Given the description of an element on the screen output the (x, y) to click on. 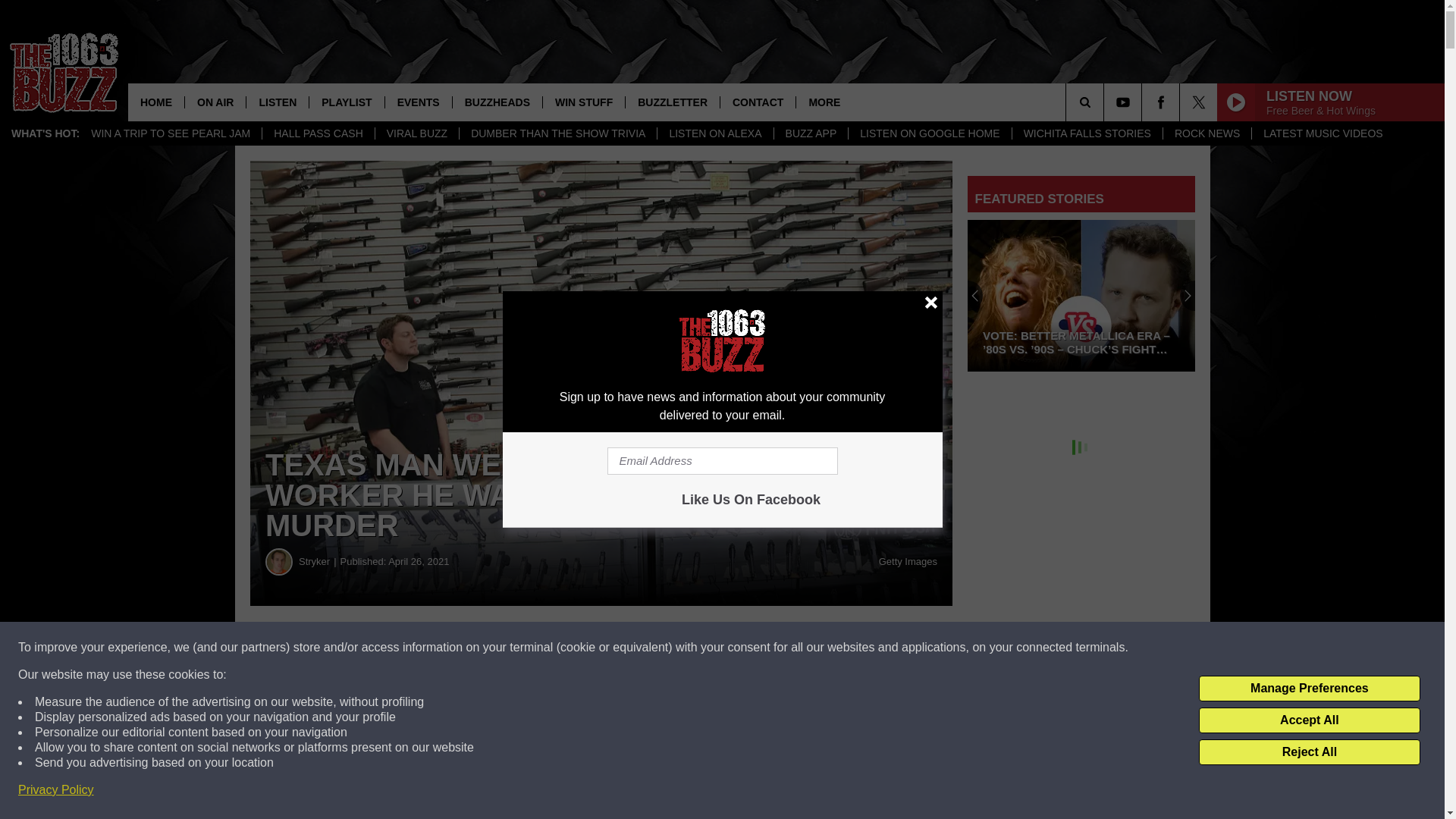
LISTEN (277, 102)
SEARCH (1106, 102)
LISTEN ON GOOGLE HOME (928, 133)
Privacy Policy (55, 789)
PLAYLIST (346, 102)
WIN A TRIP TO SEE PEARL JAM (171, 133)
VIRAL BUZZ (416, 133)
Manage Preferences (1309, 688)
DUMBER THAN THE SHOW TRIVIA (557, 133)
Email Address (722, 461)
LISTEN ON ALEXA (714, 133)
SEARCH (1106, 102)
ON AIR (215, 102)
LATEST MUSIC VIDEOS (1321, 133)
BUZZHEADS (496, 102)
